Given the description of an element on the screen output the (x, y) to click on. 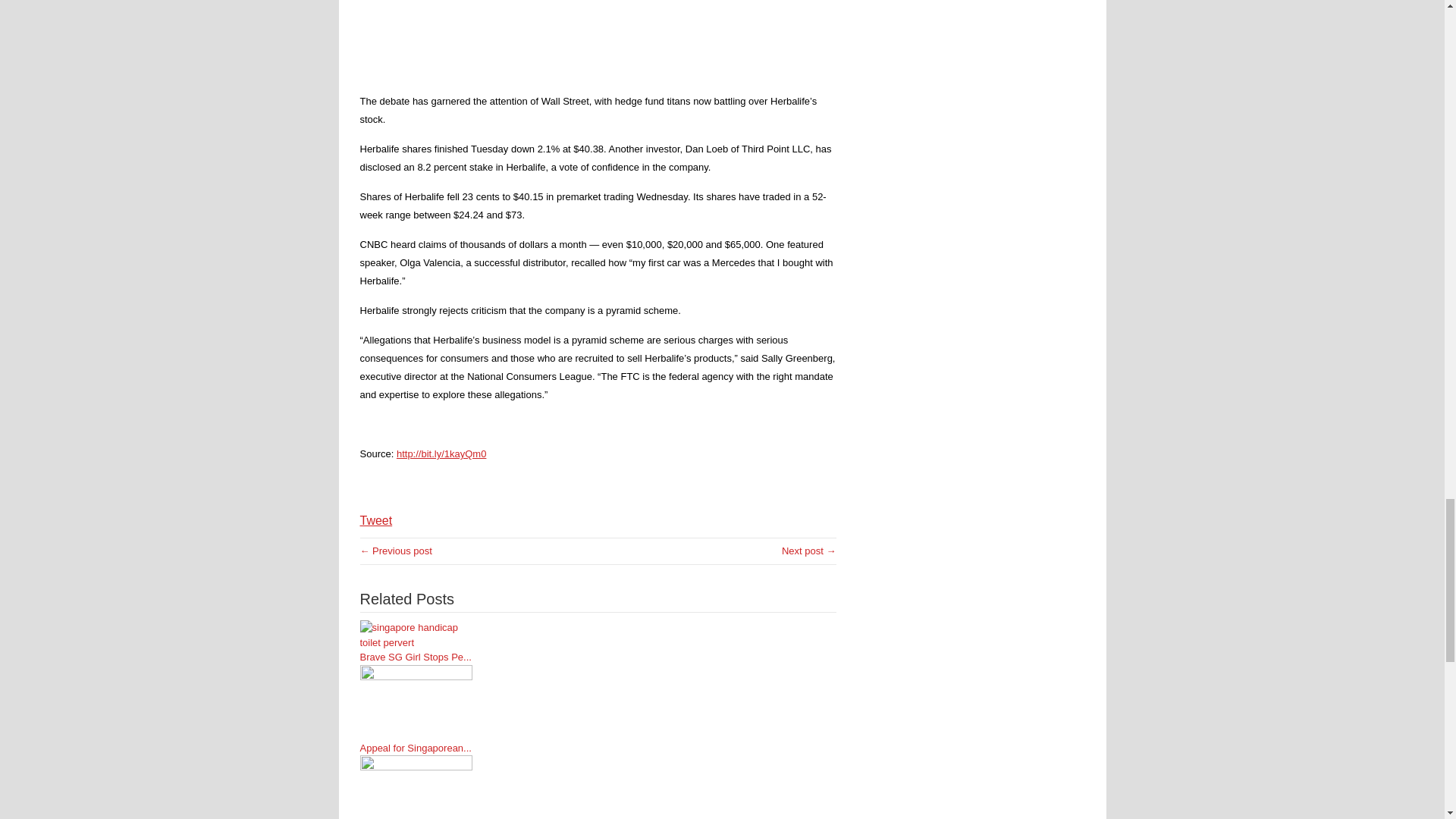
Tweet (375, 520)
Mantan Anggota Parlimen Ariff Suradi Meninggal Dunia (394, 550)
Muslimah Shares Story on Bipolar Disorder (808, 550)
Appeal for Singaporean... (415, 747)
Brave SG Girl Stops Pe... (415, 657)
